Given the description of an element on the screen output the (x, y) to click on. 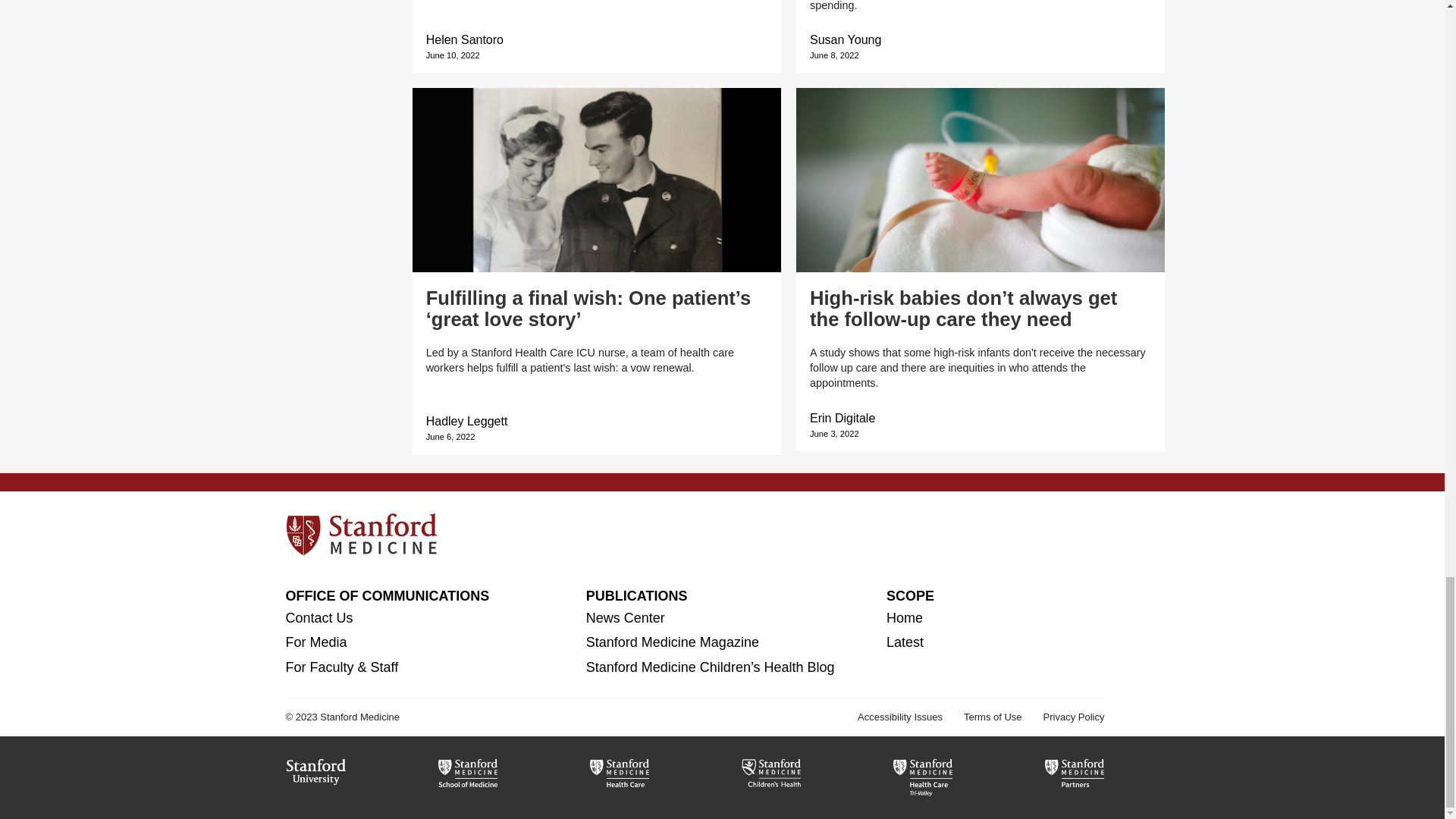
Helen Santoro (464, 39)
